Given the description of an element on the screen output the (x, y) to click on. 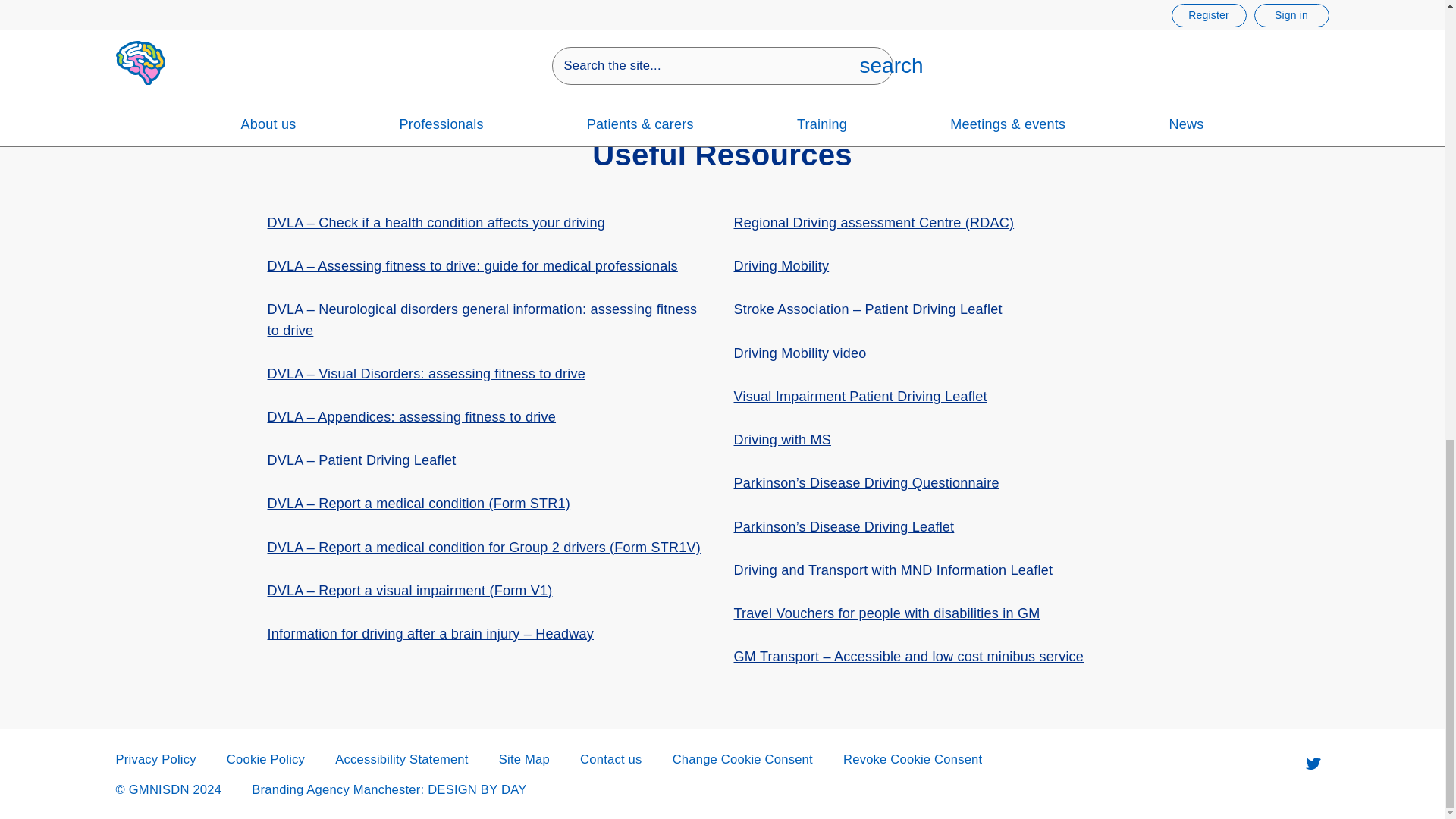
Privacy Policy (155, 759)
Accessibility Statement (400, 759)
Cookie Policy (265, 759)
